Given the description of an element on the screen output the (x, y) to click on. 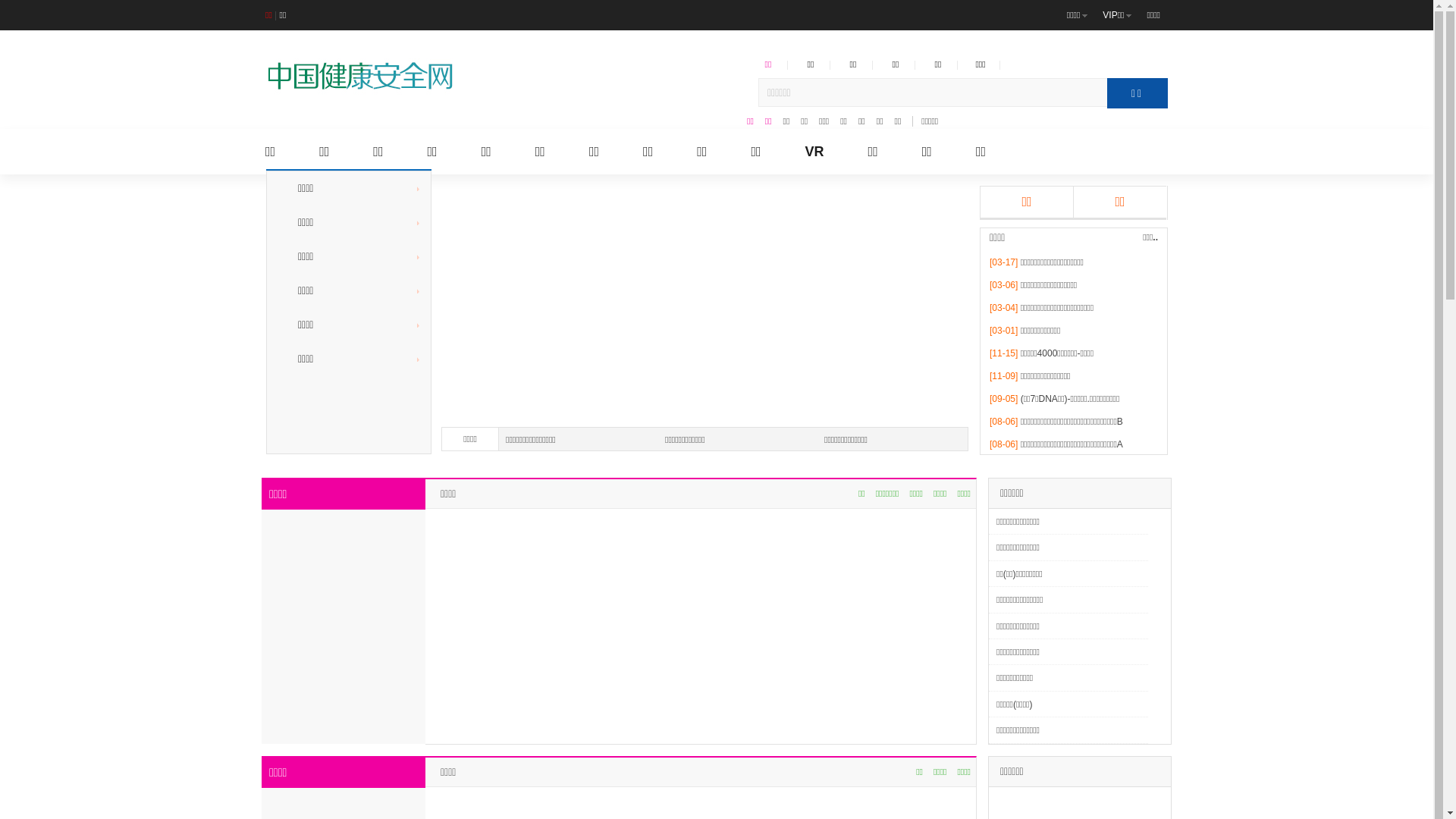
[11-09] Element type: text (1003, 375)
[03-04] Element type: text (1003, 307)
[08-06] Element type: text (1003, 421)
[08-06] Element type: text (1003, 444)
VR Element type: text (814, 151)
[03-06] Element type: text (1003, 284)
[03-01] Element type: text (1003, 330)
[09-05] Element type: text (1003, 398)
[03-17] Element type: text (1003, 262)
[11-15] Element type: text (1003, 353)
